Given the description of an element on the screen output the (x, y) to click on. 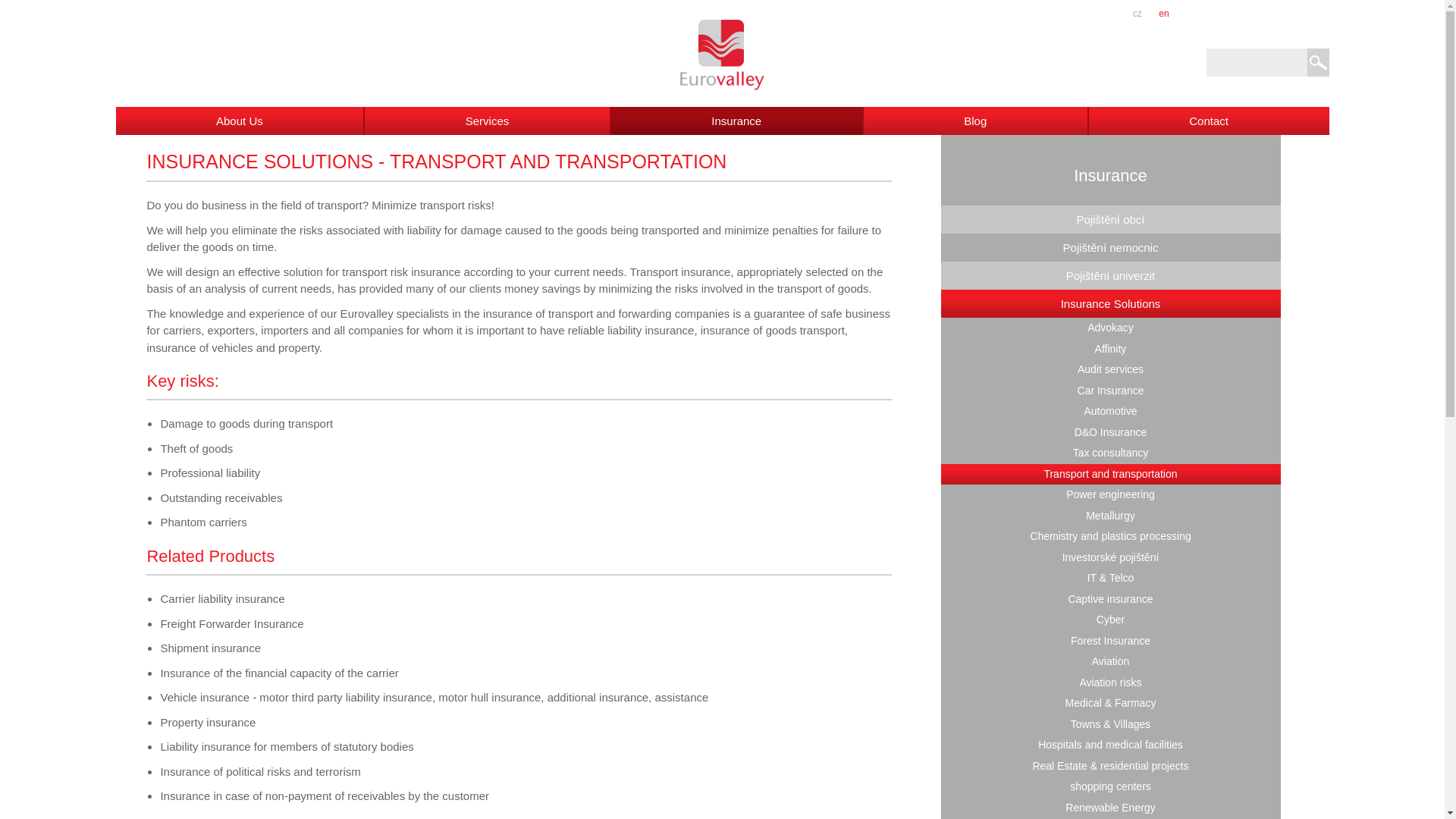
Blog (976, 121)
cz (1137, 13)
Insurance (737, 121)
About Us (240, 121)
en (1164, 13)
Services (488, 121)
